Given the description of an element on the screen output the (x, y) to click on. 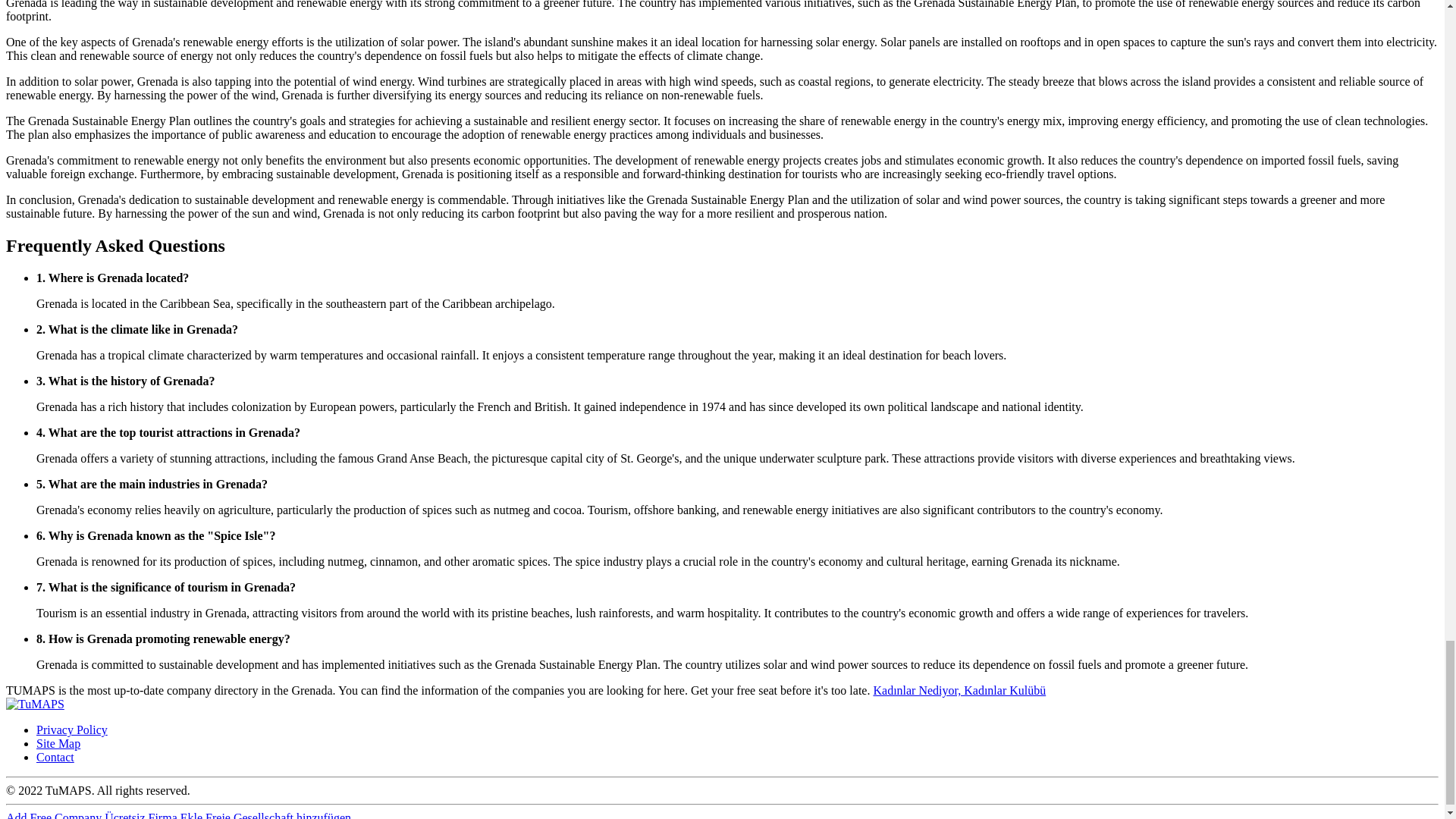
Site Map (58, 743)
Contact (55, 757)
TuMAPS (34, 703)
Privacy Policy (71, 729)
